Given the description of an element on the screen output the (x, y) to click on. 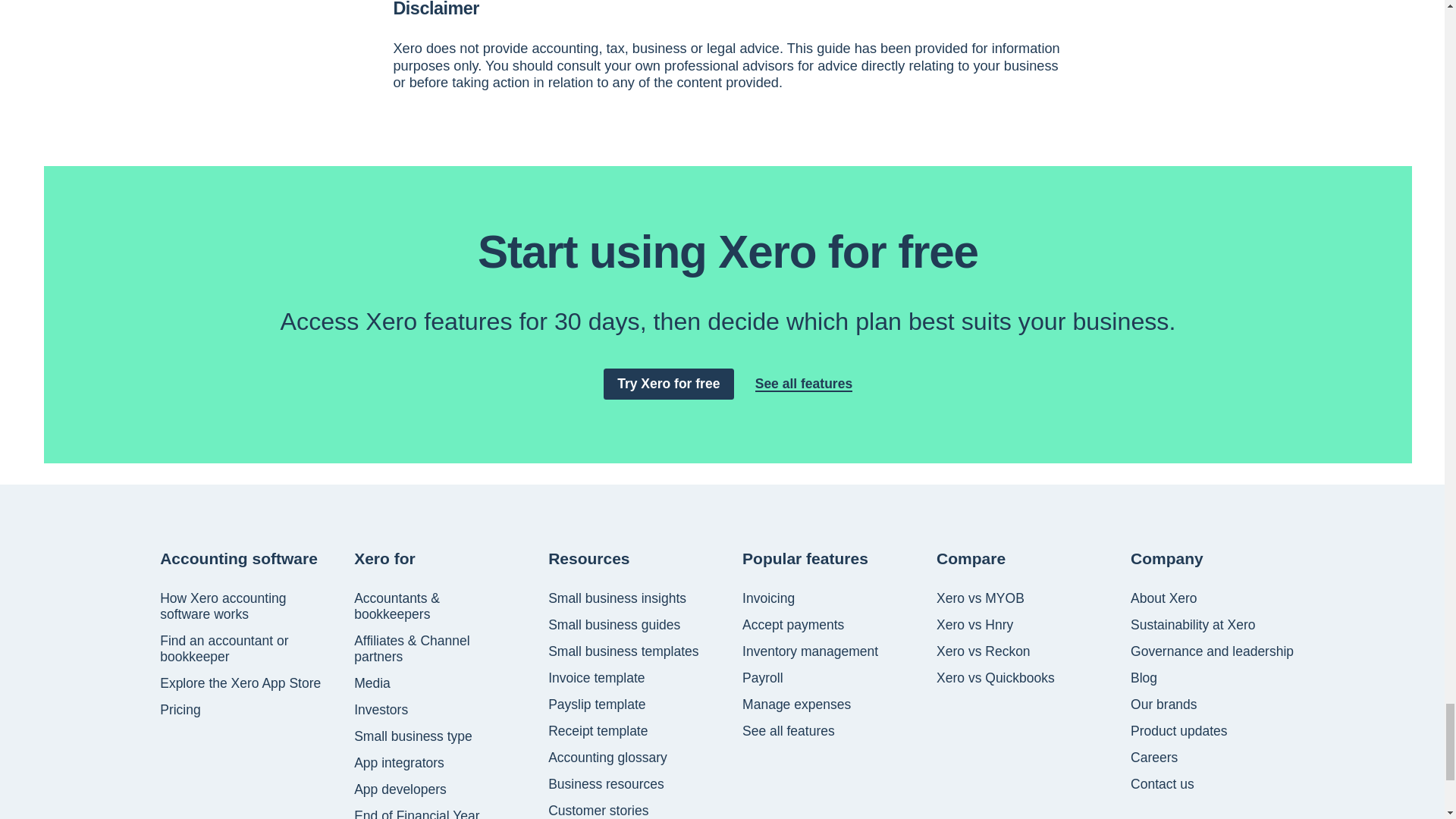
Small business guides (613, 625)
How Xero accounting software works (242, 606)
App developers (399, 789)
Small business insights (616, 598)
Media (371, 683)
Find an accountant or bookkeeper (242, 649)
See all features (803, 383)
Investors (380, 709)
Small business type (412, 736)
Small business templates (623, 651)
App integrators (398, 763)
Try Xero for free (668, 383)
Pricing (180, 709)
Explore the Xero App Store (240, 683)
Invoice template (596, 678)
